Given the description of an element on the screen output the (x, y) to click on. 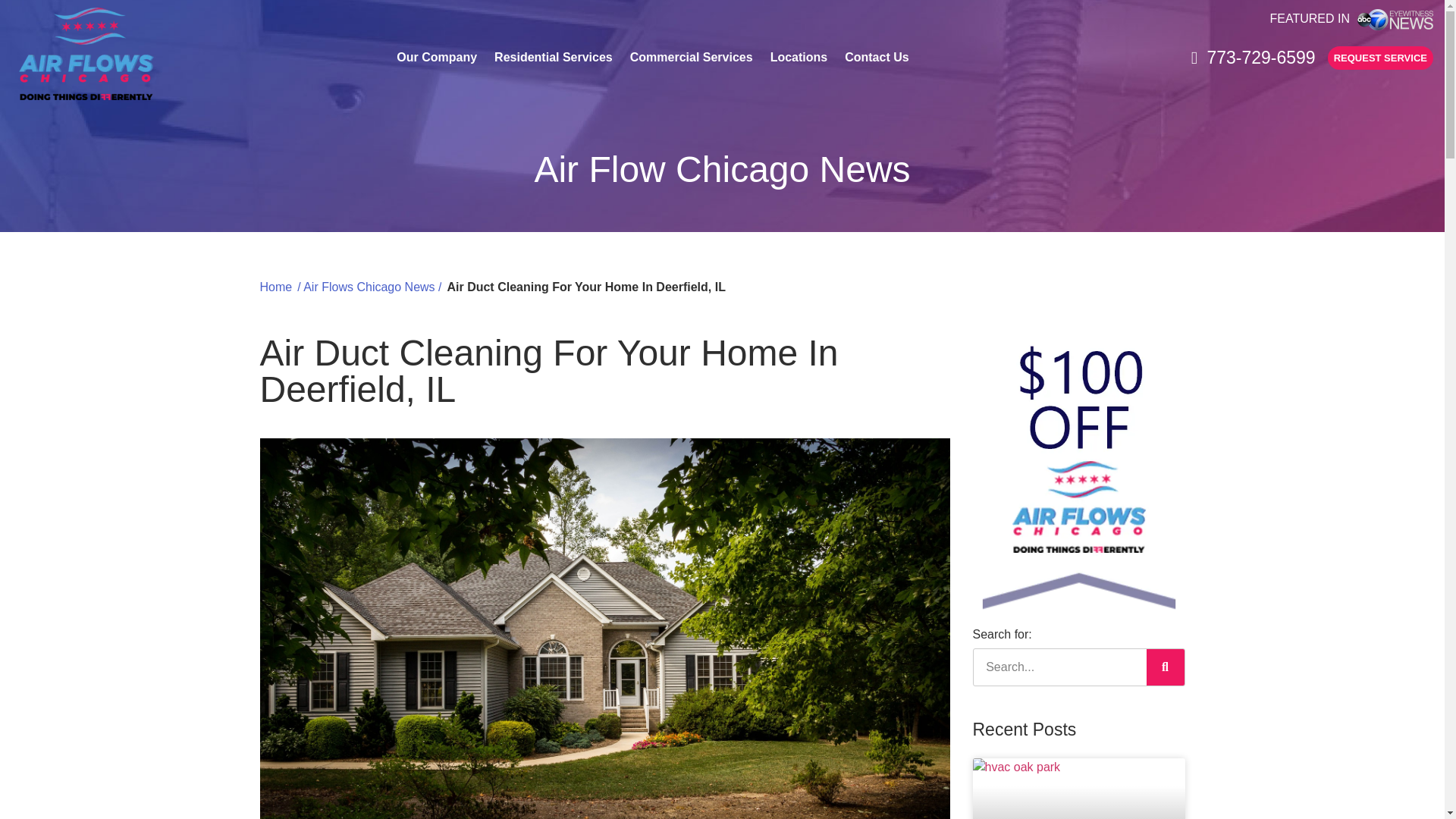
air-flows-logo (86, 53)
